Given the description of an element on the screen output the (x, y) to click on. 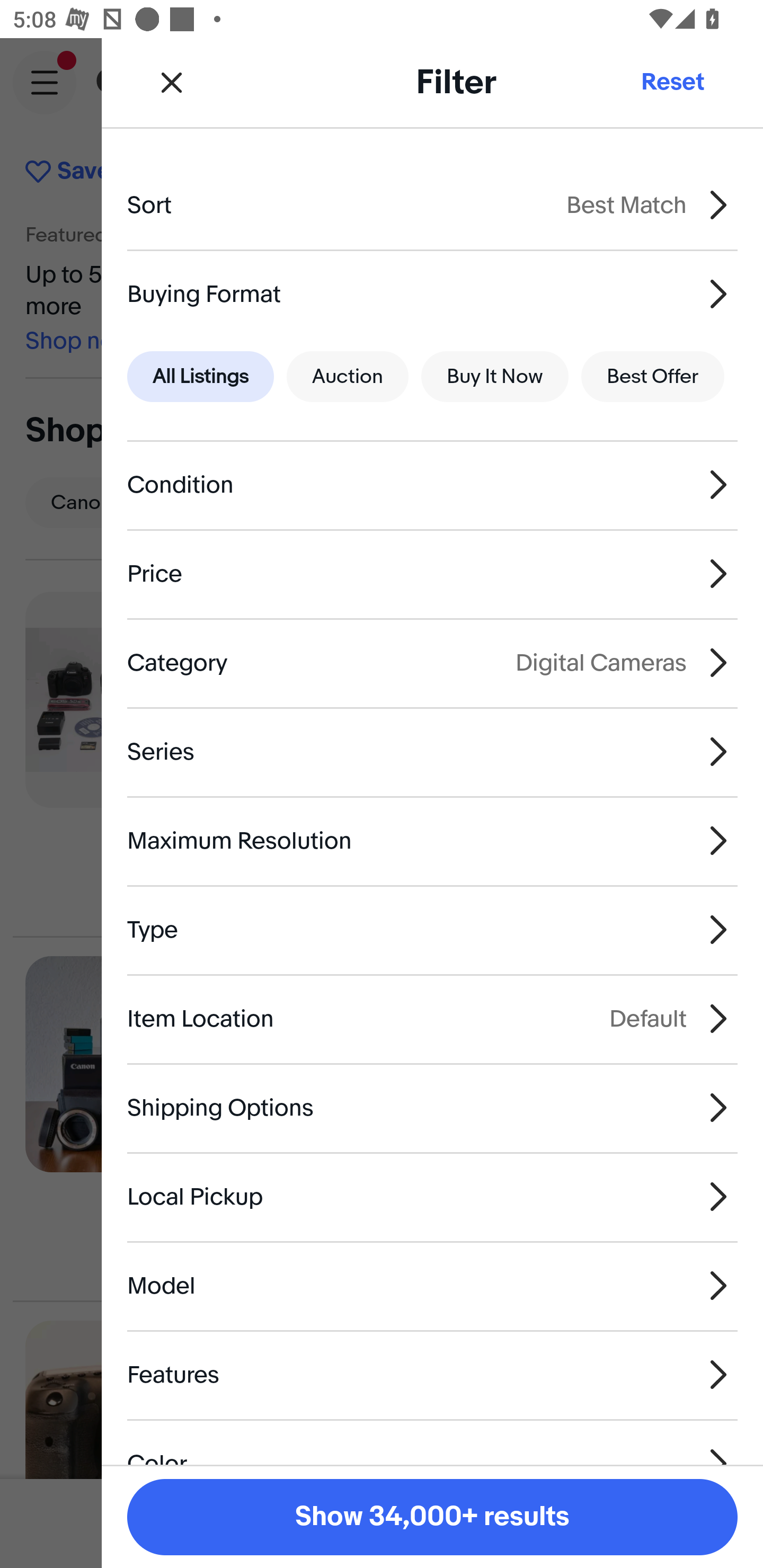
Close Filter (171, 81)
Reset (672, 81)
Buying Format (432, 293)
All Listings (200, 376)
Auction (347, 376)
Buy It Now (494, 376)
Best Offer (652, 376)
Condition (432, 484)
Price (432, 573)
Category Digital Cameras (432, 662)
Series (432, 751)
Maximum Resolution (432, 840)
Type (432, 929)
Item Location Default (432, 1018)
Shipping Options (432, 1107)
Local Pickup (432, 1196)
Model (432, 1285)
Features (432, 1374)
Show 34,000+ results (432, 1516)
